Given the description of an element on the screen output the (x, y) to click on. 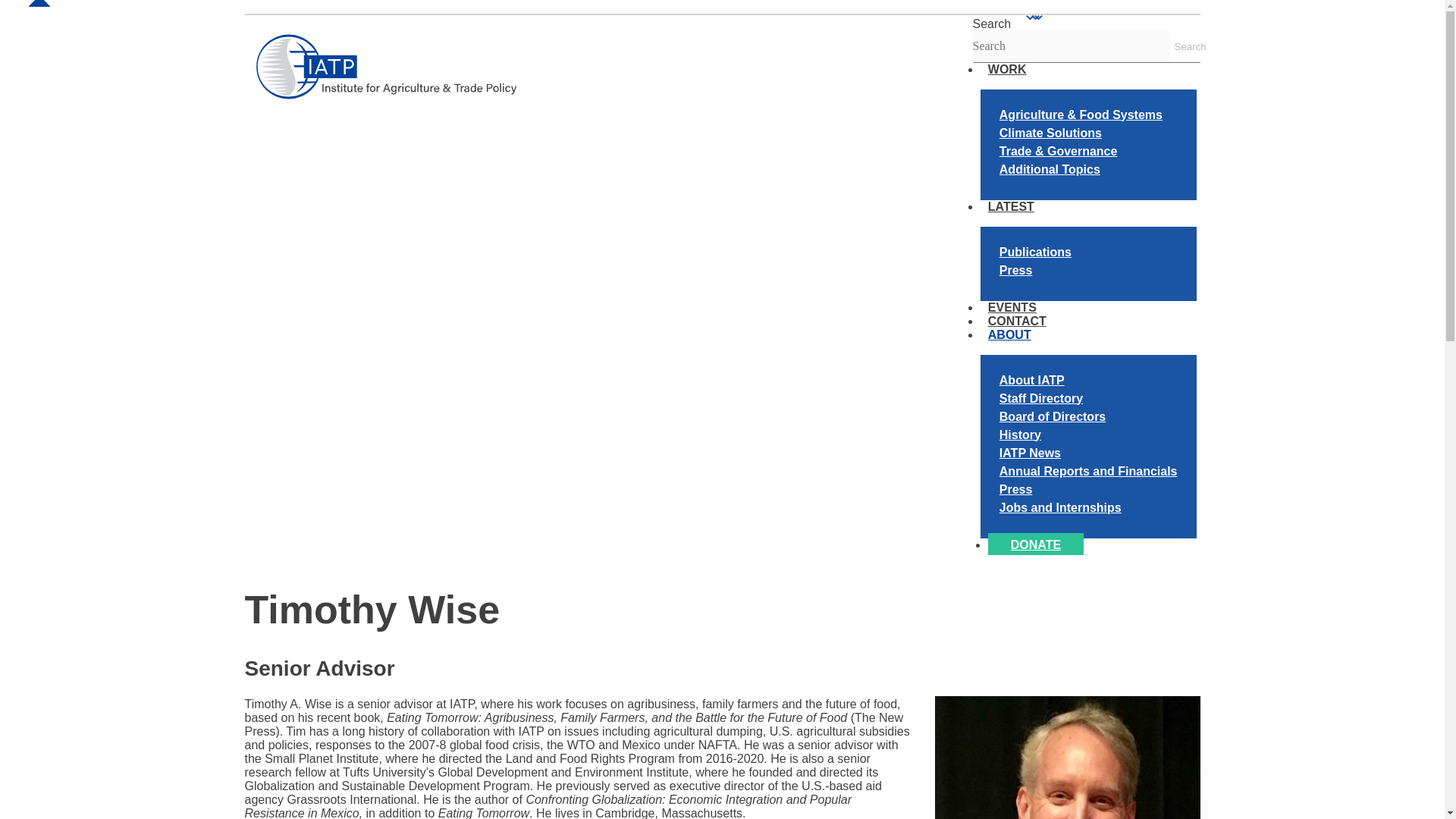
Enter the terms you wish to search for. (1070, 46)
Search (1184, 46)
WORK (1006, 68)
